Given the description of an element on the screen output the (x, y) to click on. 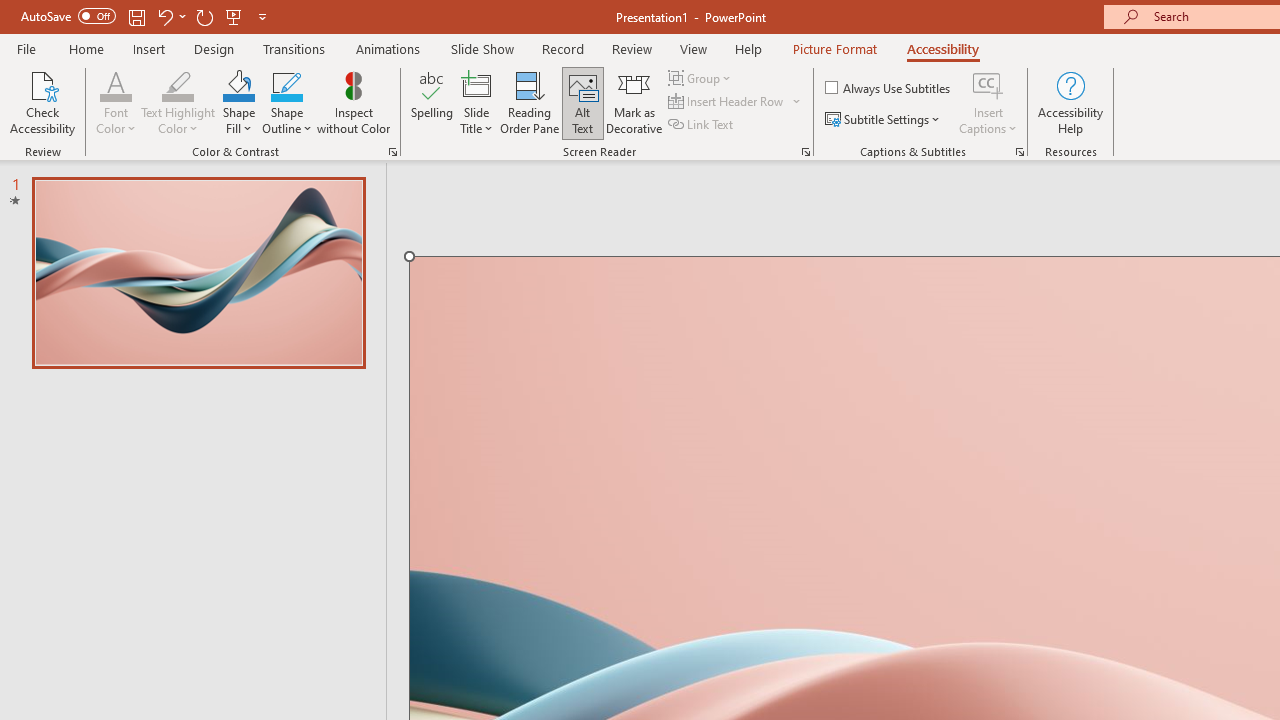
Accessibility Help (1070, 102)
Picture Format (834, 48)
Group (701, 78)
Inspect without Color (353, 102)
